Given the description of an element on the screen output the (x, y) to click on. 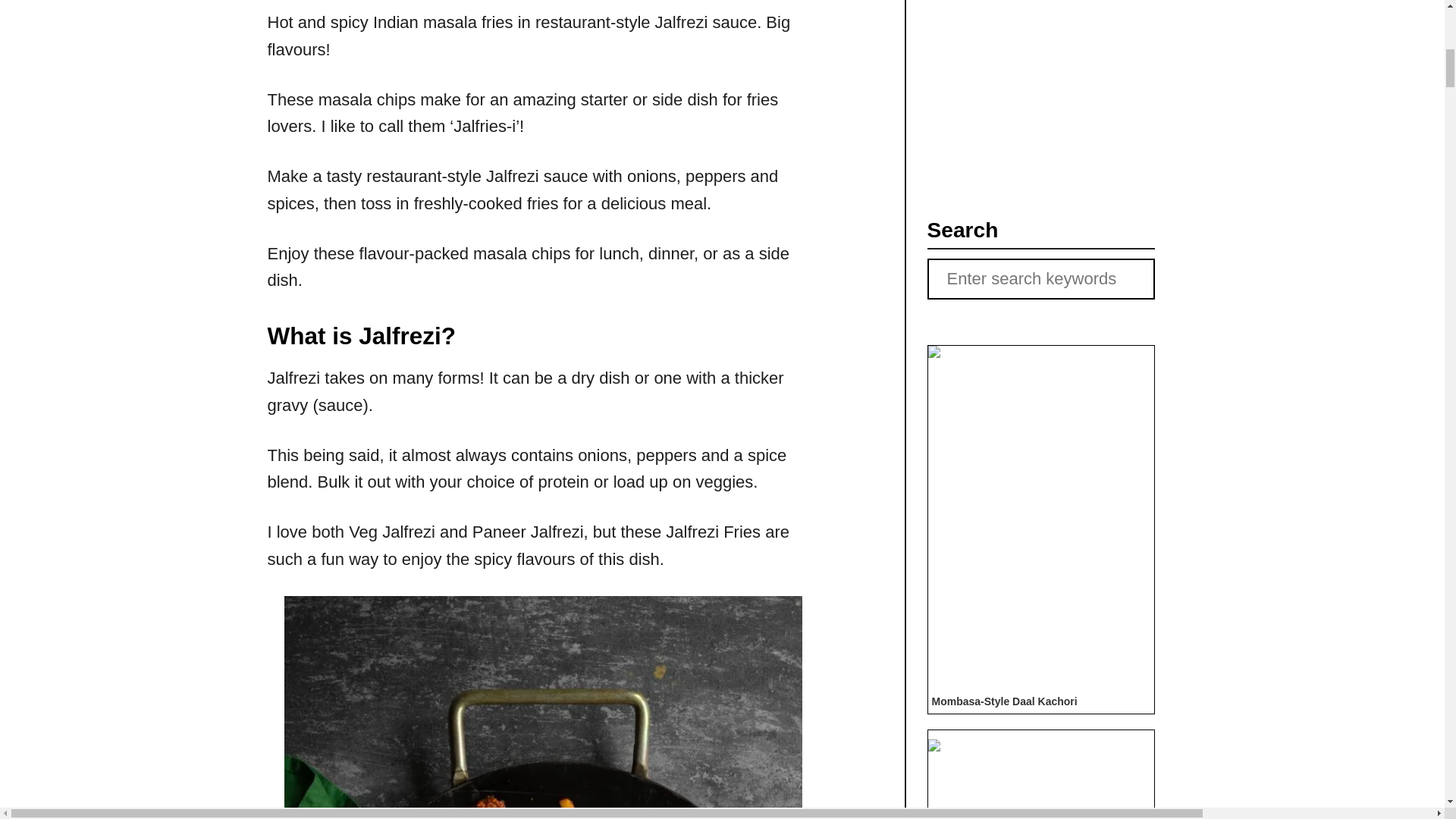
Search for: (1040, 278)
